Given the description of an element on the screen output the (x, y) to click on. 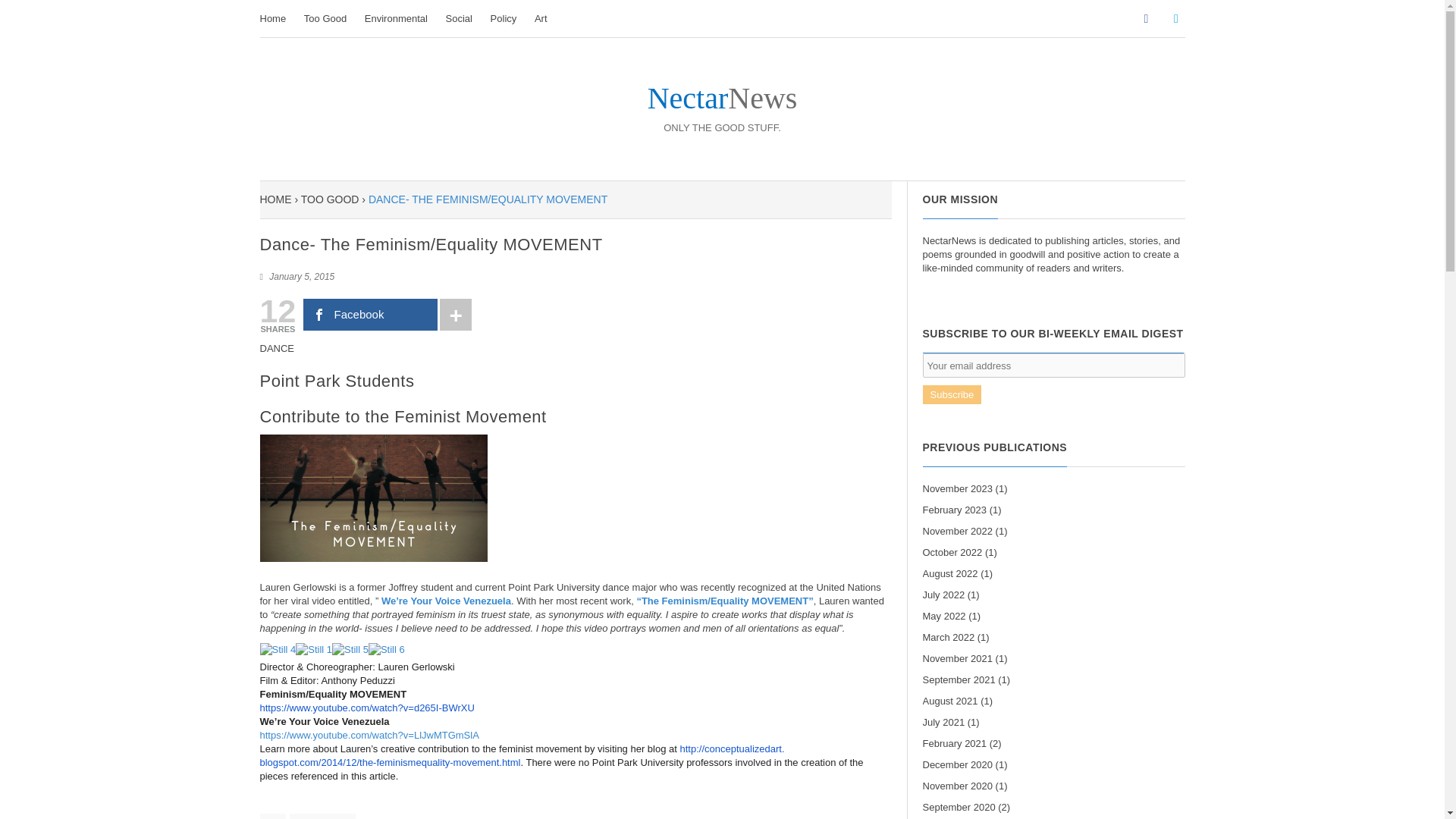
Environmental (395, 17)
HOME (275, 199)
Facebook (370, 314)
Social (459, 17)
NectarNews (722, 109)
Home (276, 17)
Policy (503, 17)
TOO GOOD (330, 199)
Art (540, 17)
Too Good (325, 17)
